Given the description of an element on the screen output the (x, y) to click on. 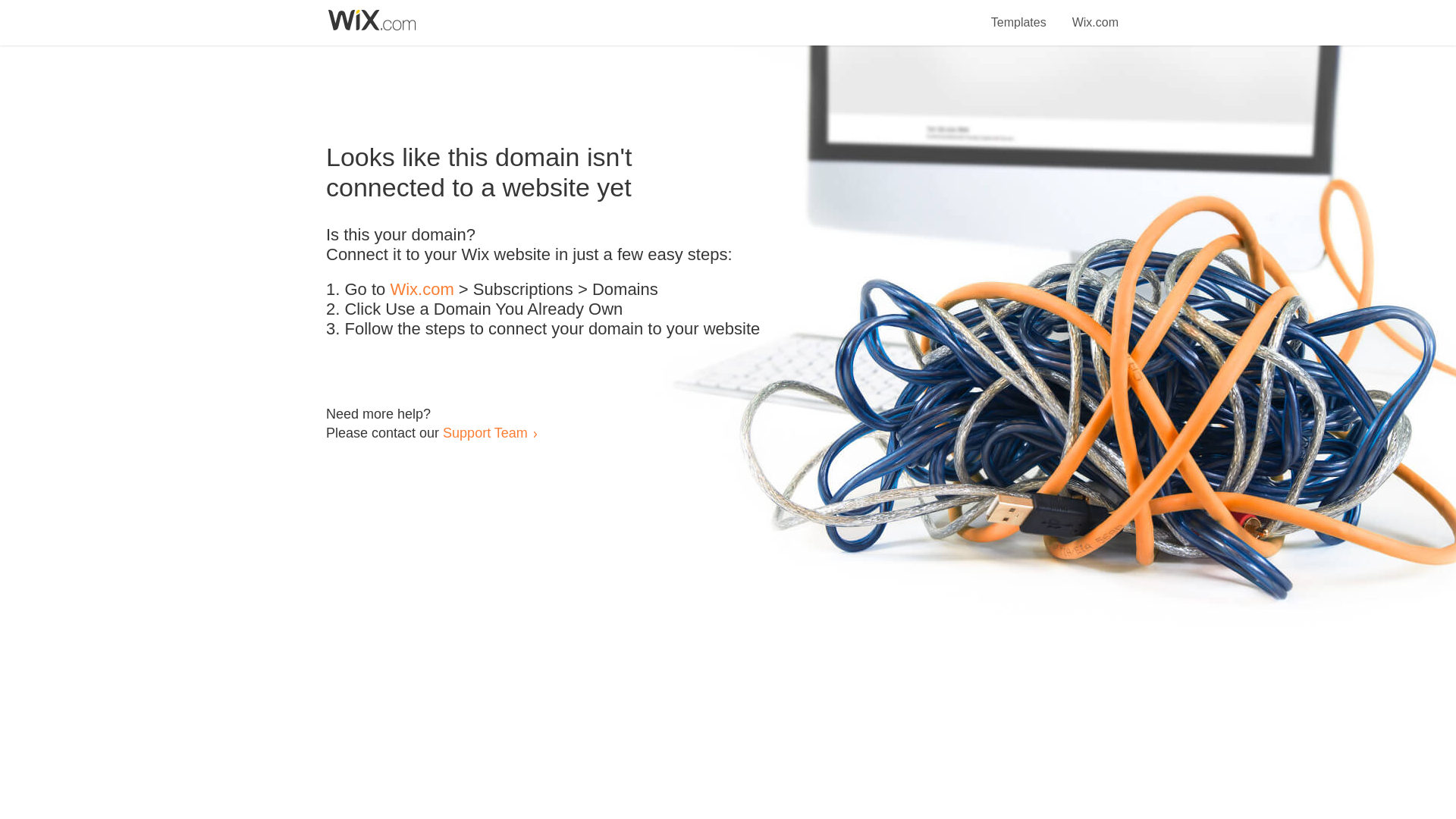
Wix.com (1095, 14)
Wix.com (421, 289)
Support Team (484, 432)
Templates (1018, 14)
